Given the description of an element on the screen output the (x, y) to click on. 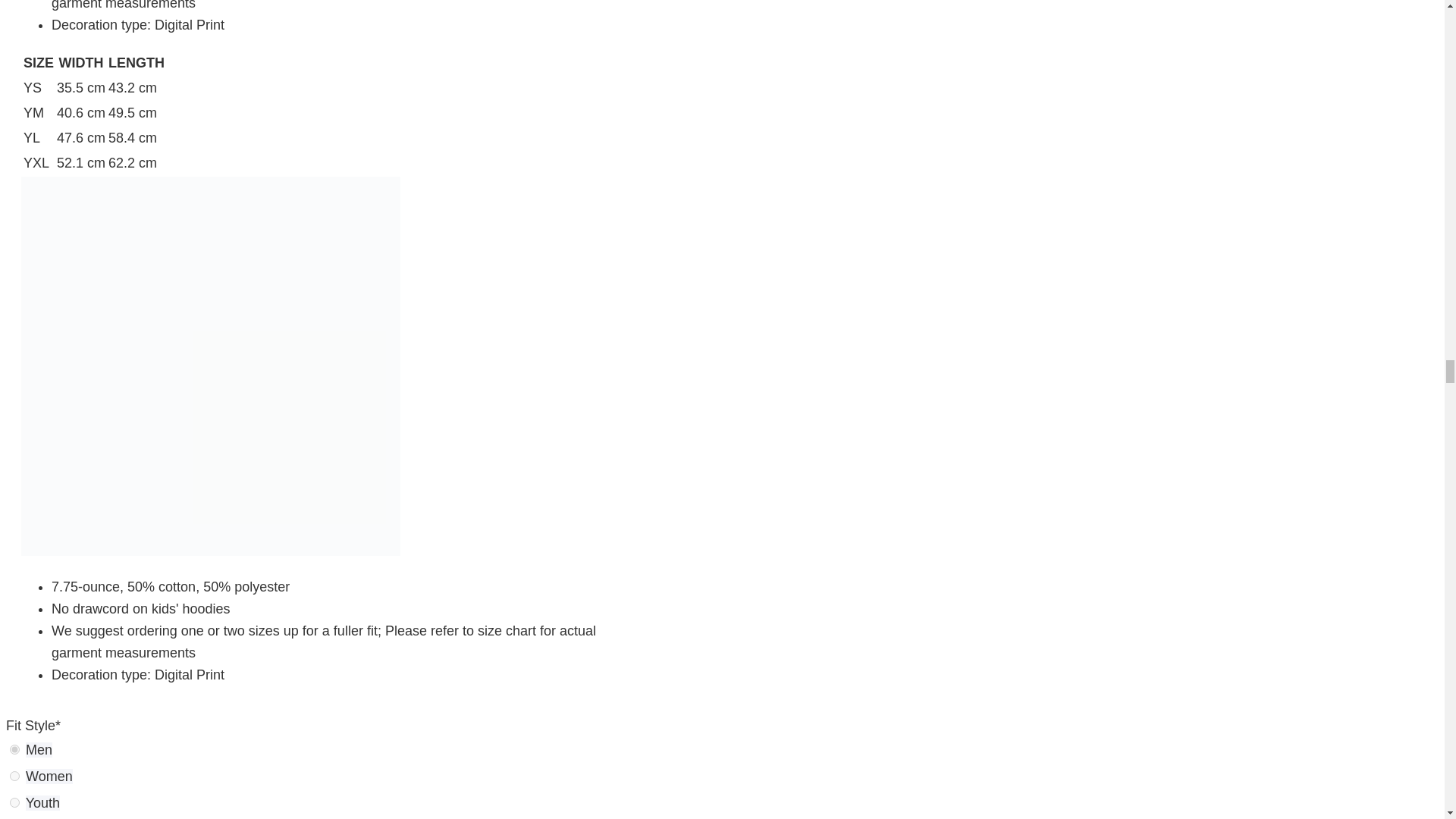
Youth (42, 802)
Men (15, 749)
Women (15, 776)
Men (39, 749)
Youth (15, 802)
Women (49, 776)
